Given the description of an element on the screen output the (x, y) to click on. 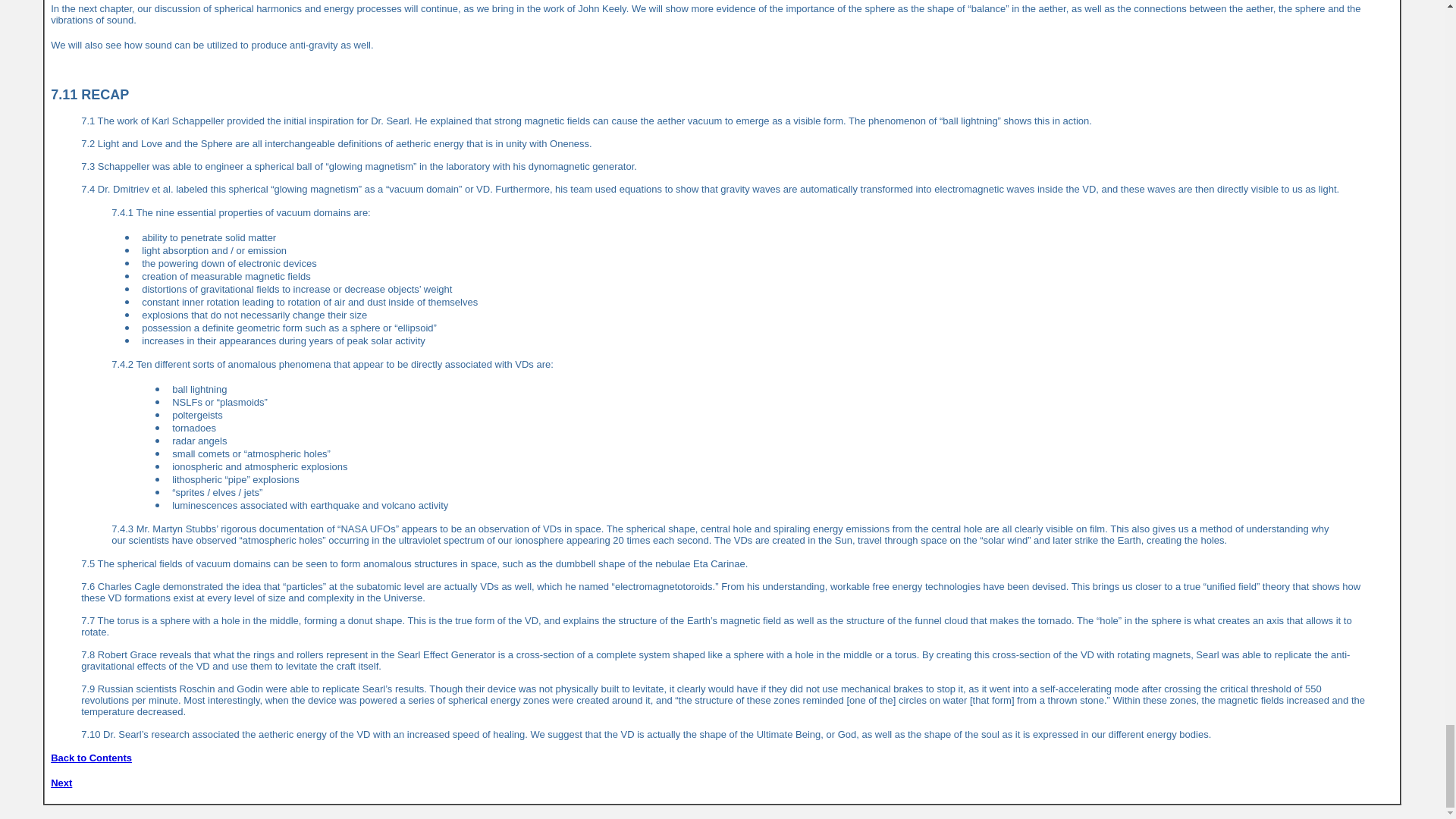
Next (60, 782)
Back to Contents (91, 757)
